Given the description of an element on the screen output the (x, y) to click on. 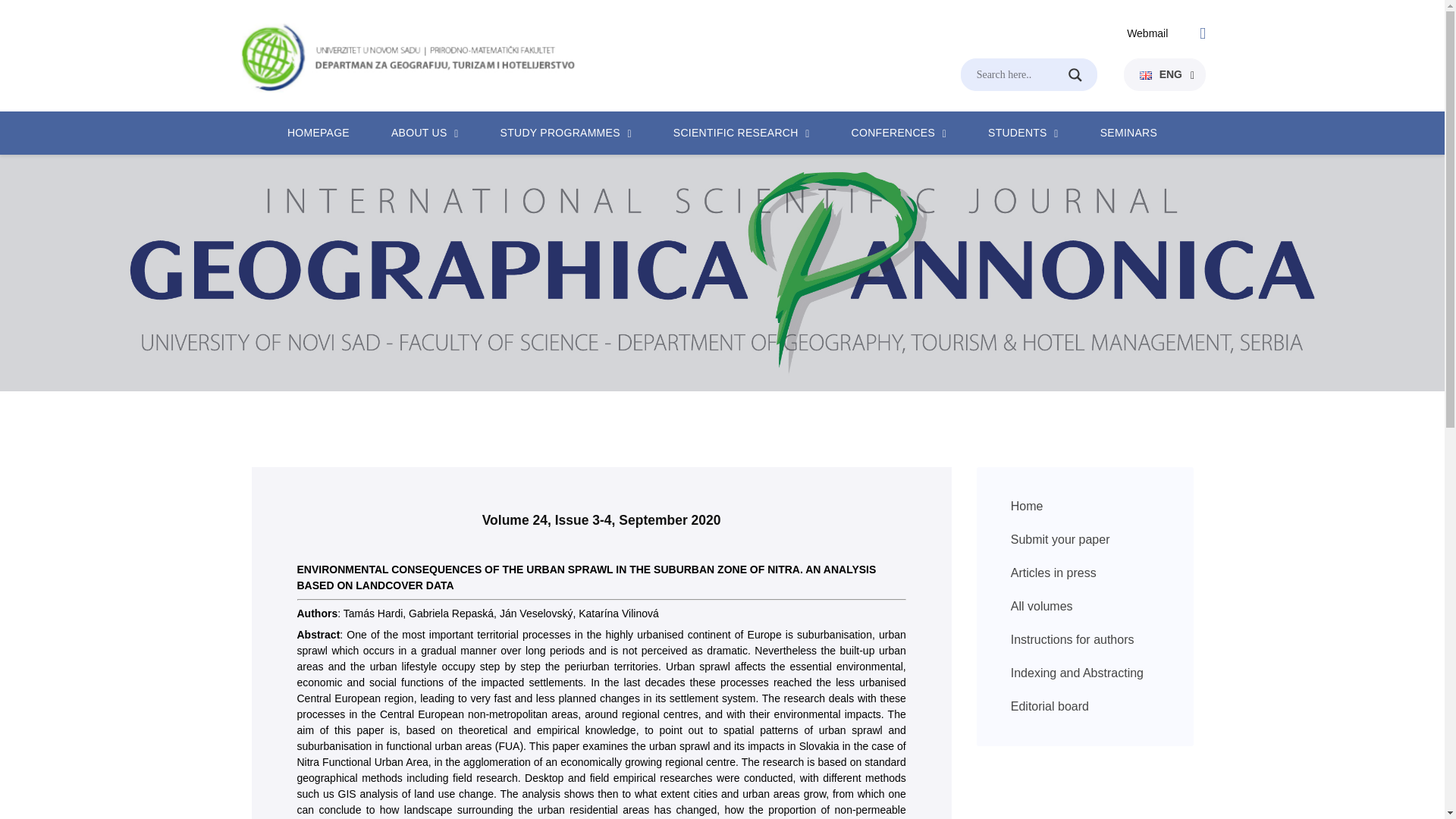
HOMEPAGE (317, 132)
Search (1084, 74)
ABOUT US (418, 132)
Search (1084, 74)
Webmail (1146, 33)
ENG (1161, 73)
Search (1084, 74)
